Given the description of an element on the screen output the (x, y) to click on. 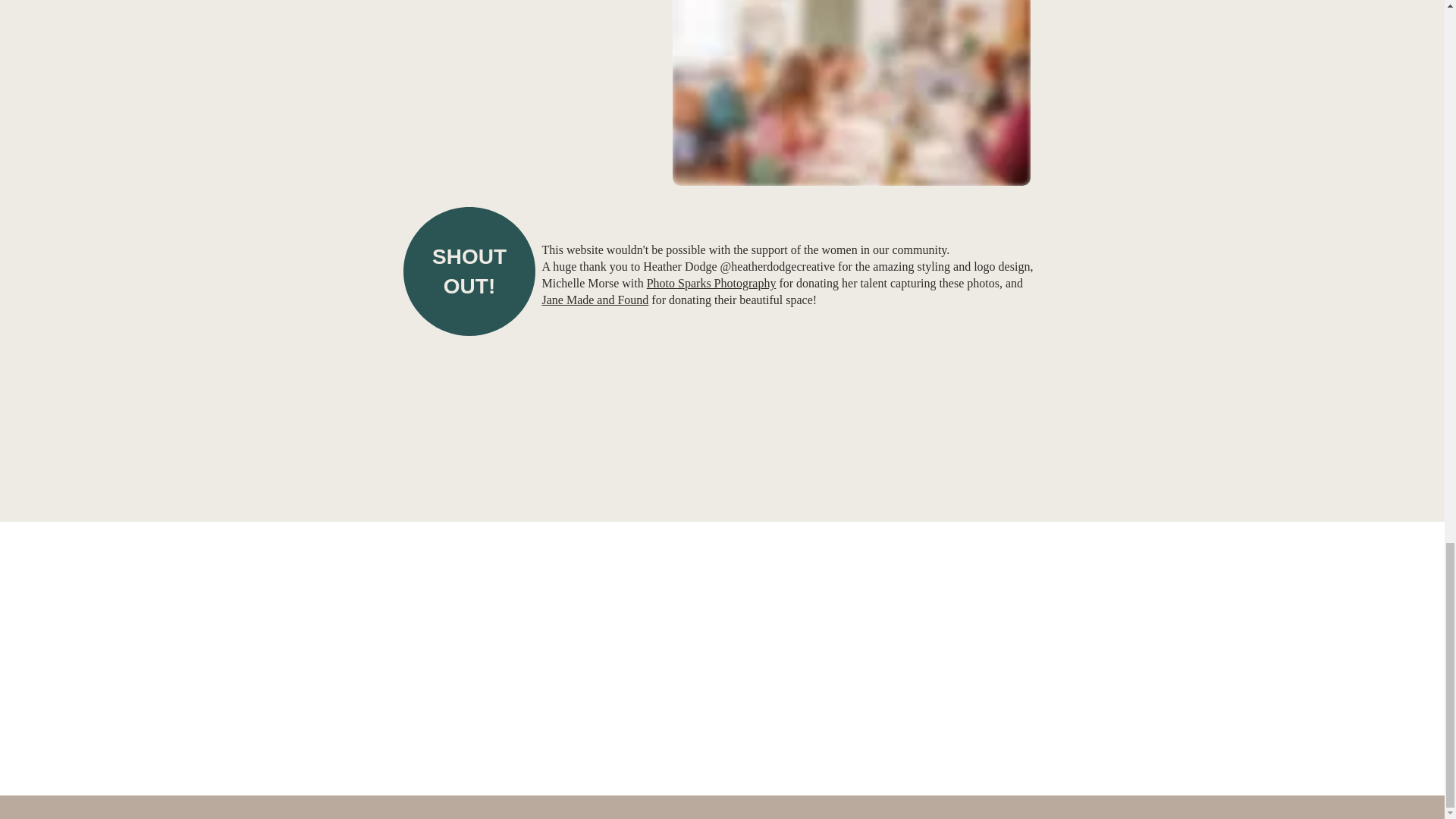
Jane Made and Found (594, 299)
Photo Sparks Photography (711, 282)
